Given the description of an element on the screen output the (x, y) to click on. 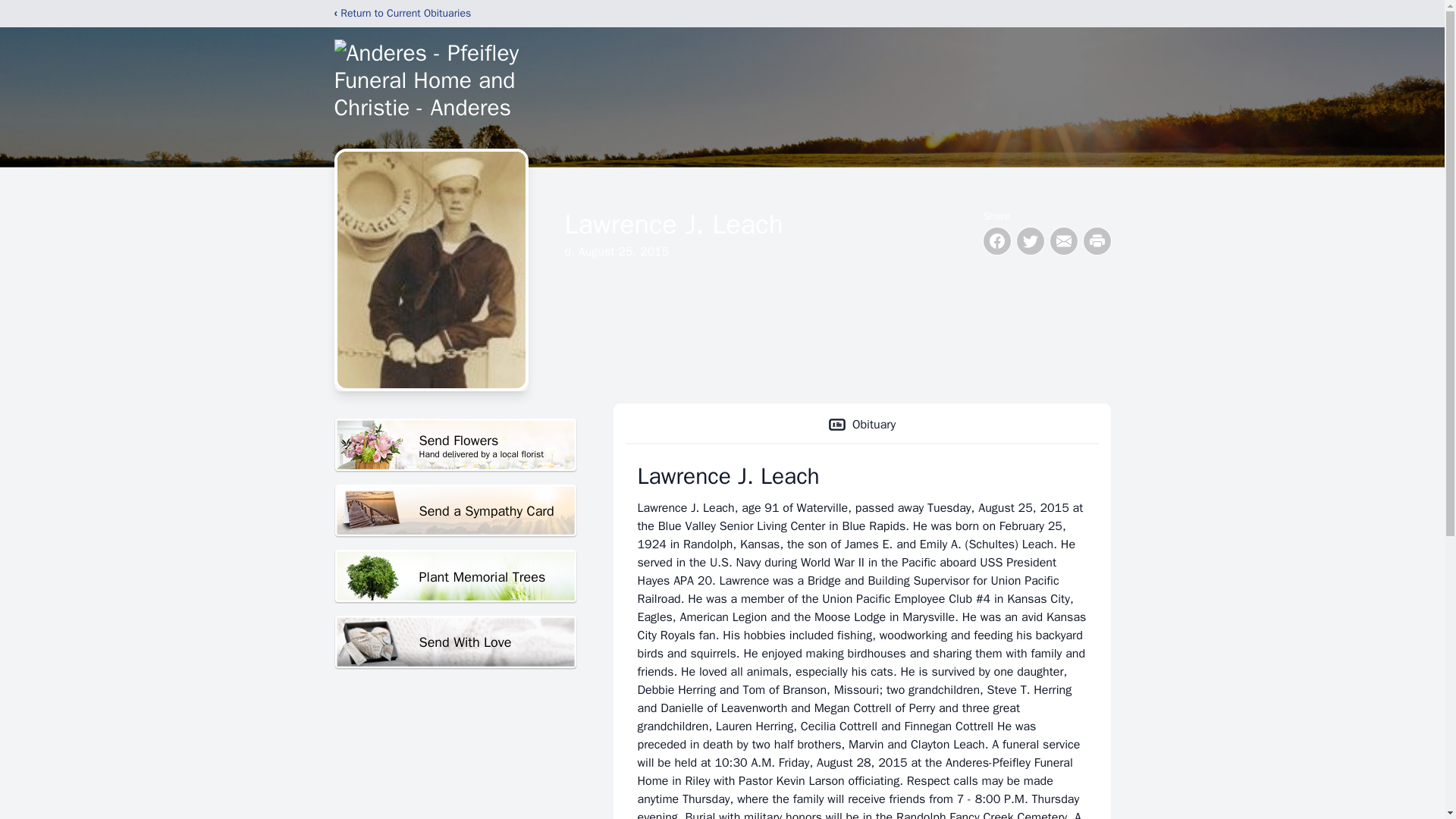
Obituary (860, 425)
Send a Sympathy Card (454, 511)
Plant Memorial Trees (454, 576)
Send With Love (454, 445)
